Given the description of an element on the screen output the (x, y) to click on. 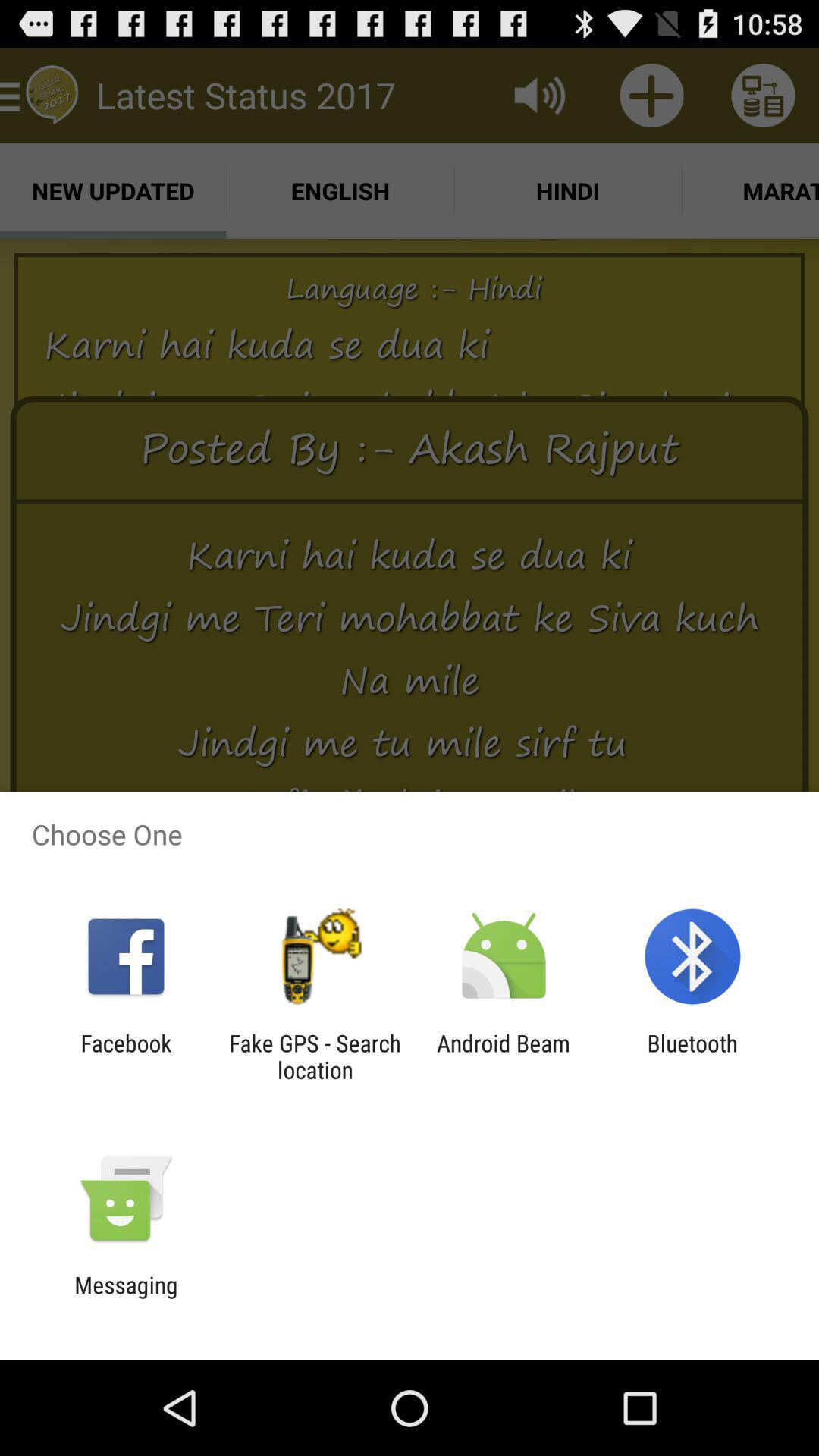
swipe to the fake gps search item (314, 1056)
